Given the description of an element on the screen output the (x, y) to click on. 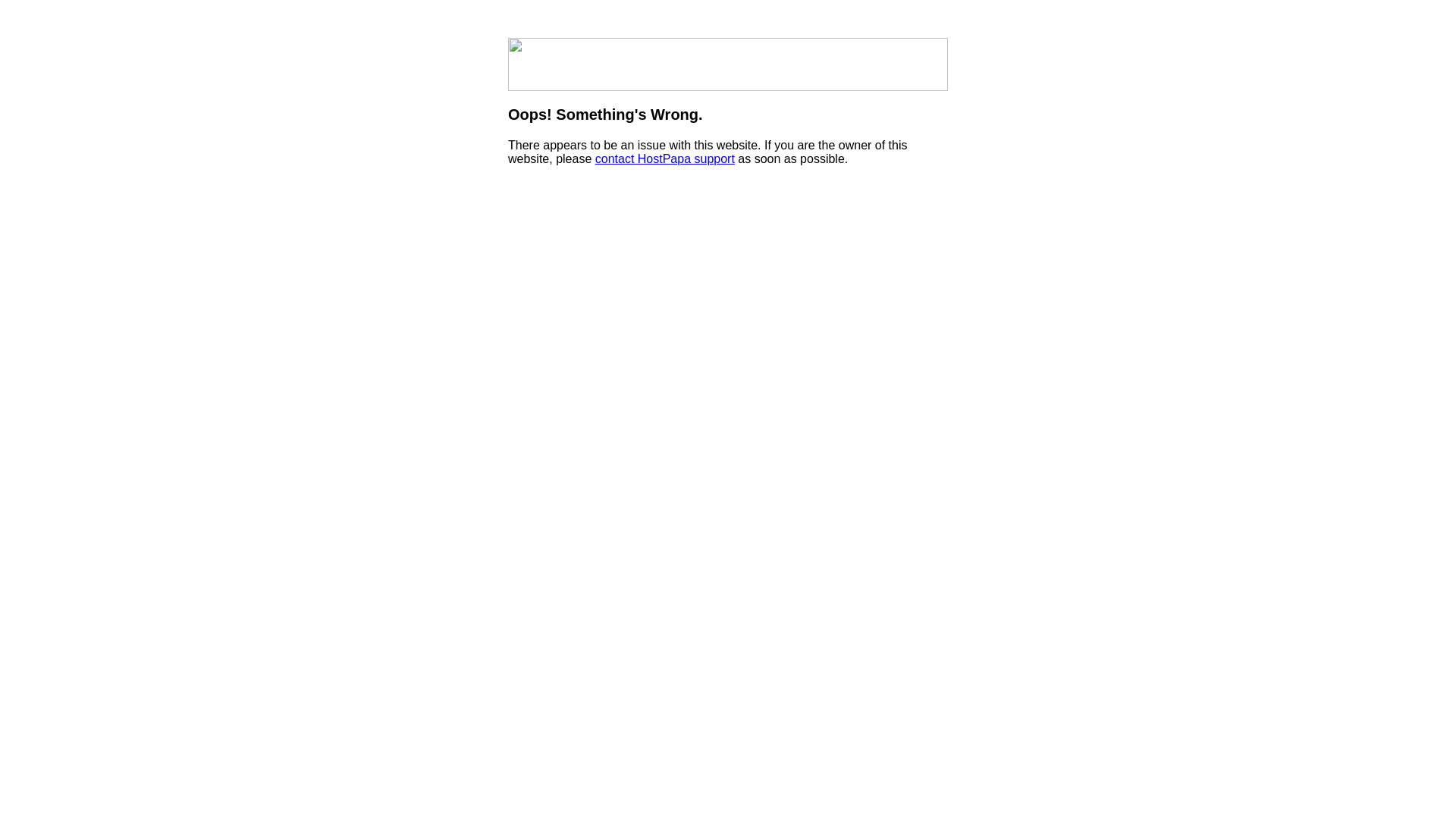
contact HostPapa support Element type: text (664, 158)
